Given the description of an element on the screen output the (x, y) to click on. 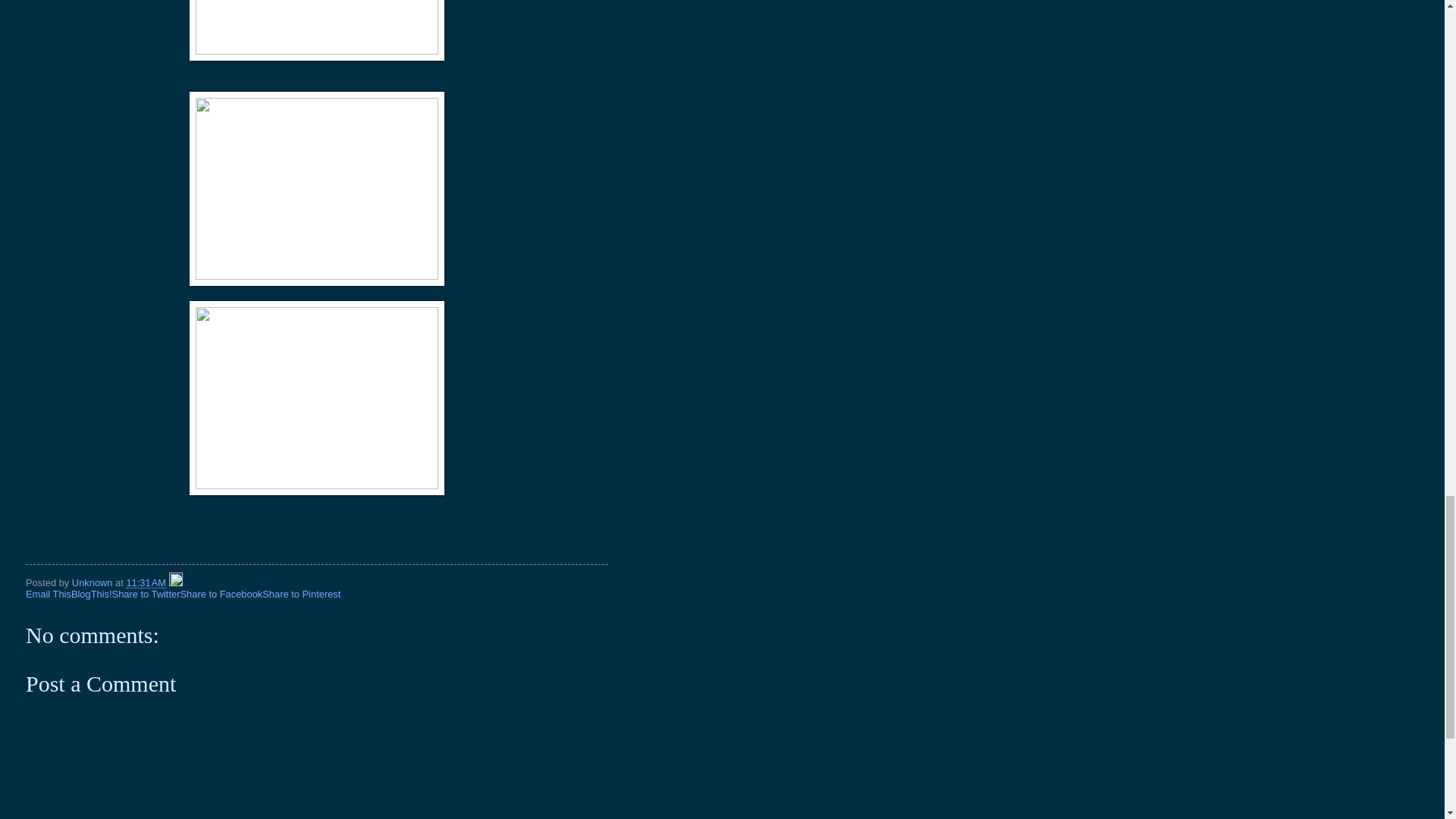
BlogThis! (91, 593)
BlogThis! (91, 593)
Share to Pinterest (301, 593)
Share to Facebook (220, 593)
Share to Facebook (220, 593)
Unknown (93, 582)
Share to Twitter (146, 593)
Share to Pinterest (301, 593)
Share to Twitter (146, 593)
Email This (48, 593)
author profile (93, 582)
permanent link (145, 582)
Email This (48, 593)
Edit Post (175, 582)
